Given the description of an element on the screen output the (x, y) to click on. 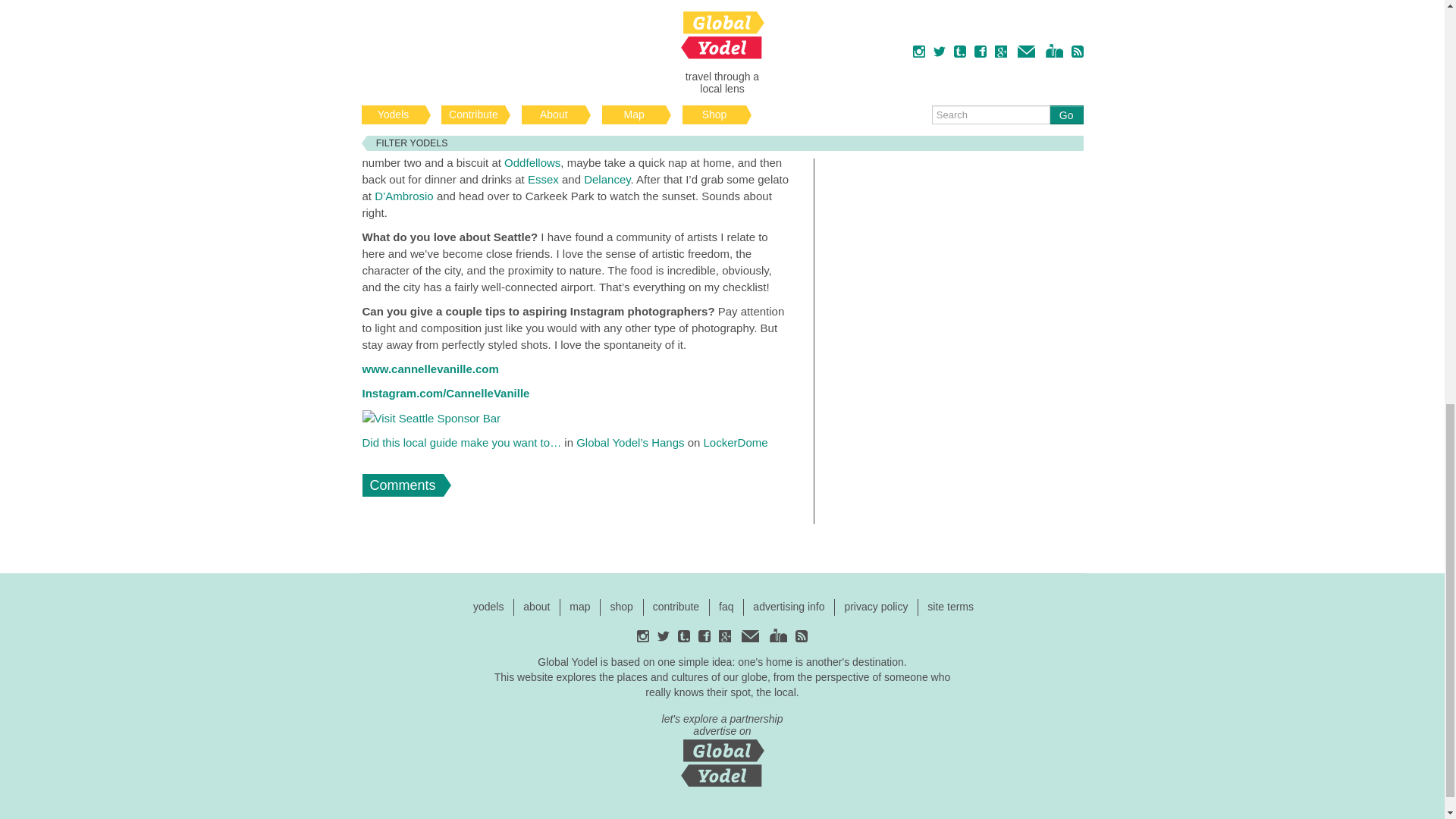
Oddfellows (531, 162)
Book Larder (756, 112)
Milstead (625, 112)
Advertise on Global Yodel (721, 748)
The London Plane (510, 145)
Totokalelo (674, 145)
